Given the description of an element on the screen output the (x, y) to click on. 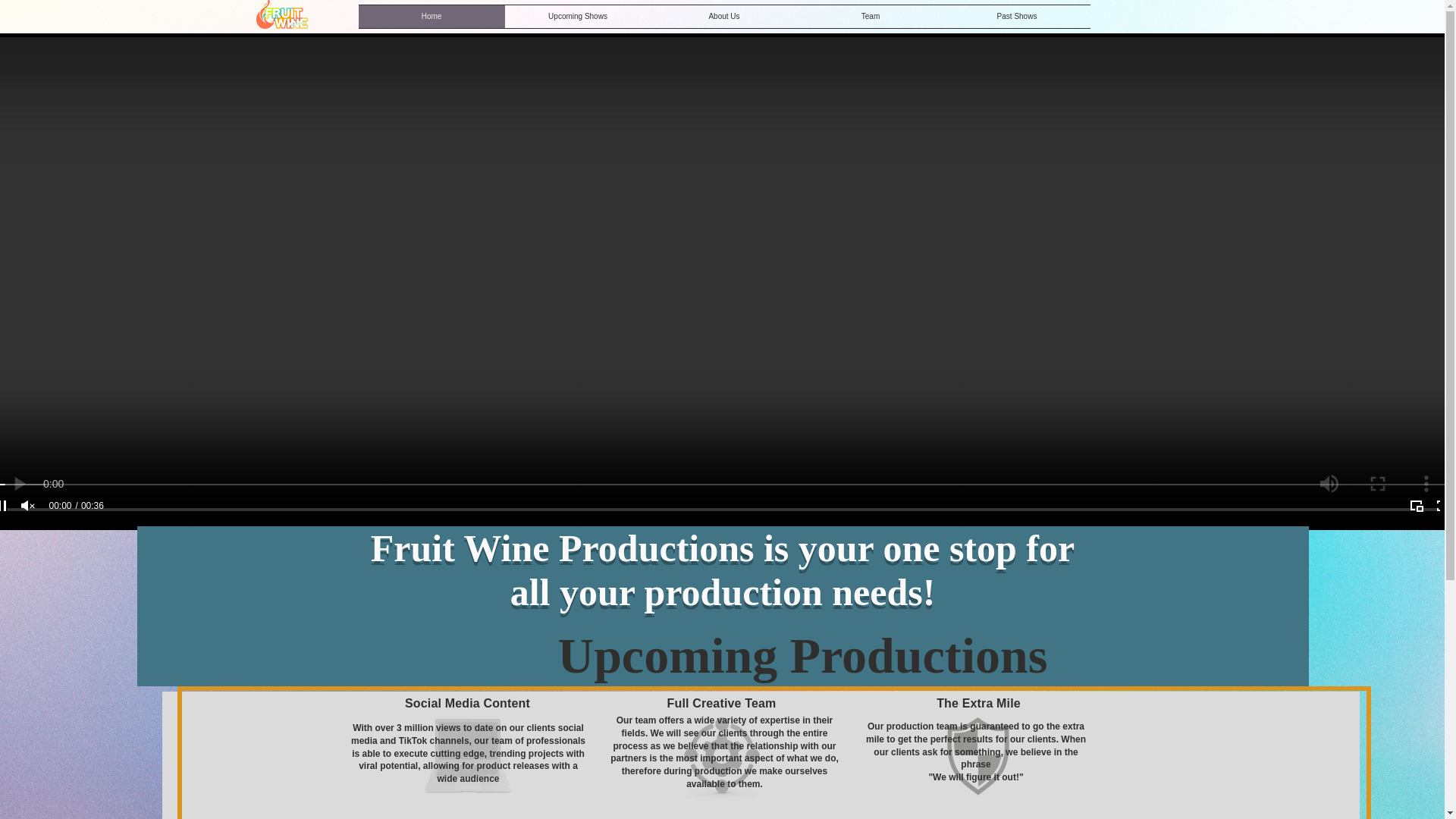
Read More (984, 815)
Past Shows (1016, 15)
Upcoming Shows (577, 15)
Team (870, 15)
Upcoming Productions (802, 655)
About Us (723, 15)
Read More (468, 815)
Read More (719, 815)
Home (430, 15)
